Given the description of an element on the screen output the (x, y) to click on. 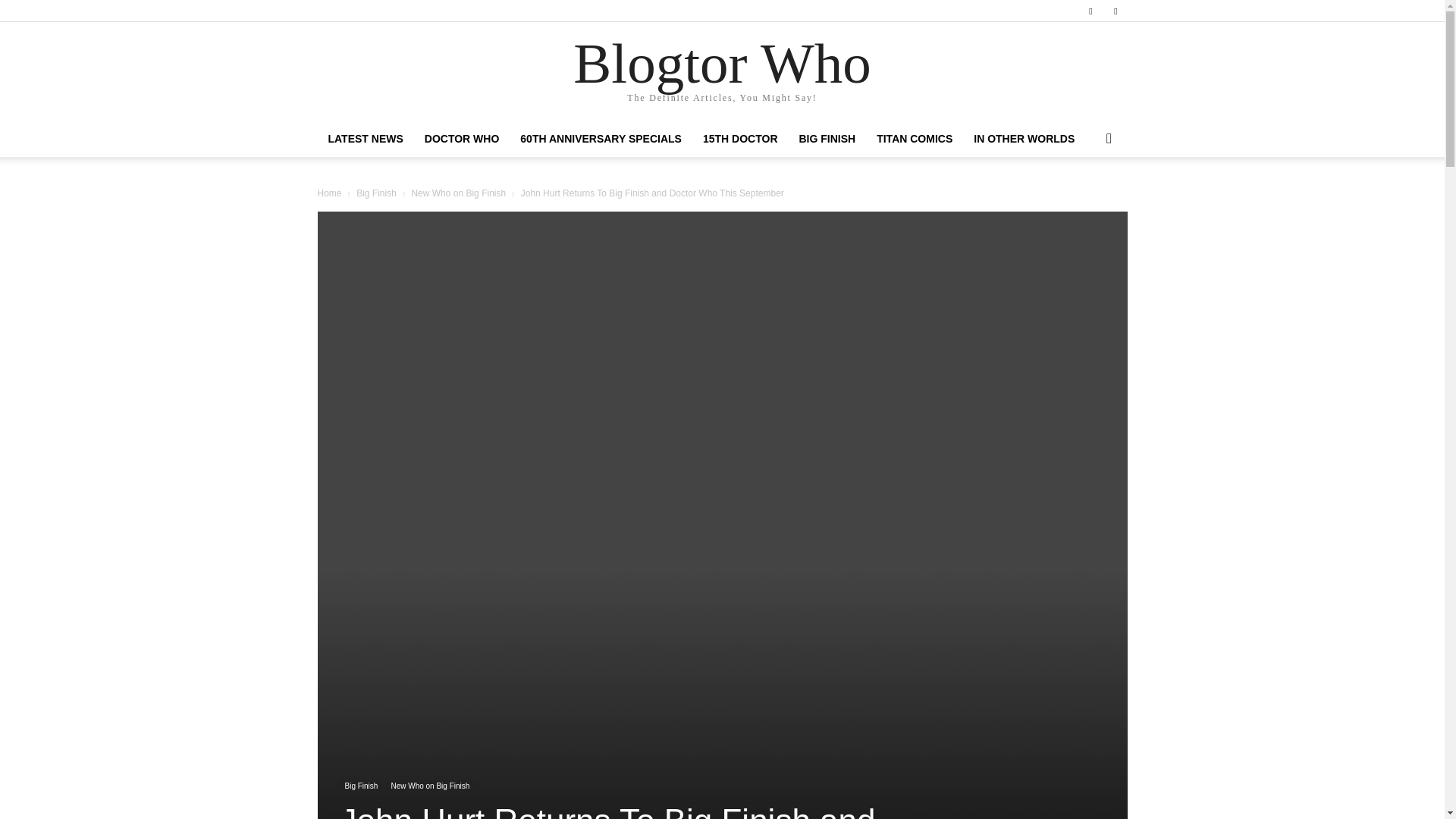
New Who on Big Finish (457, 193)
Search (1085, 199)
Facebook (1090, 10)
View all posts in Big Finish (376, 193)
Blogtor Who The Definite Articles, You Might Say! (722, 72)
LATEST NEWS (365, 138)
Big Finish (376, 193)
15TH DOCTOR (741, 138)
TITAN COMICS (914, 138)
Big Finish (360, 786)
New Who on Big Finish (429, 786)
BIG FINISH (827, 138)
60TH ANNIVERSARY SPECIALS (601, 138)
Home (328, 193)
Twitter (1114, 10)
